Given the description of an element on the screen output the (x, y) to click on. 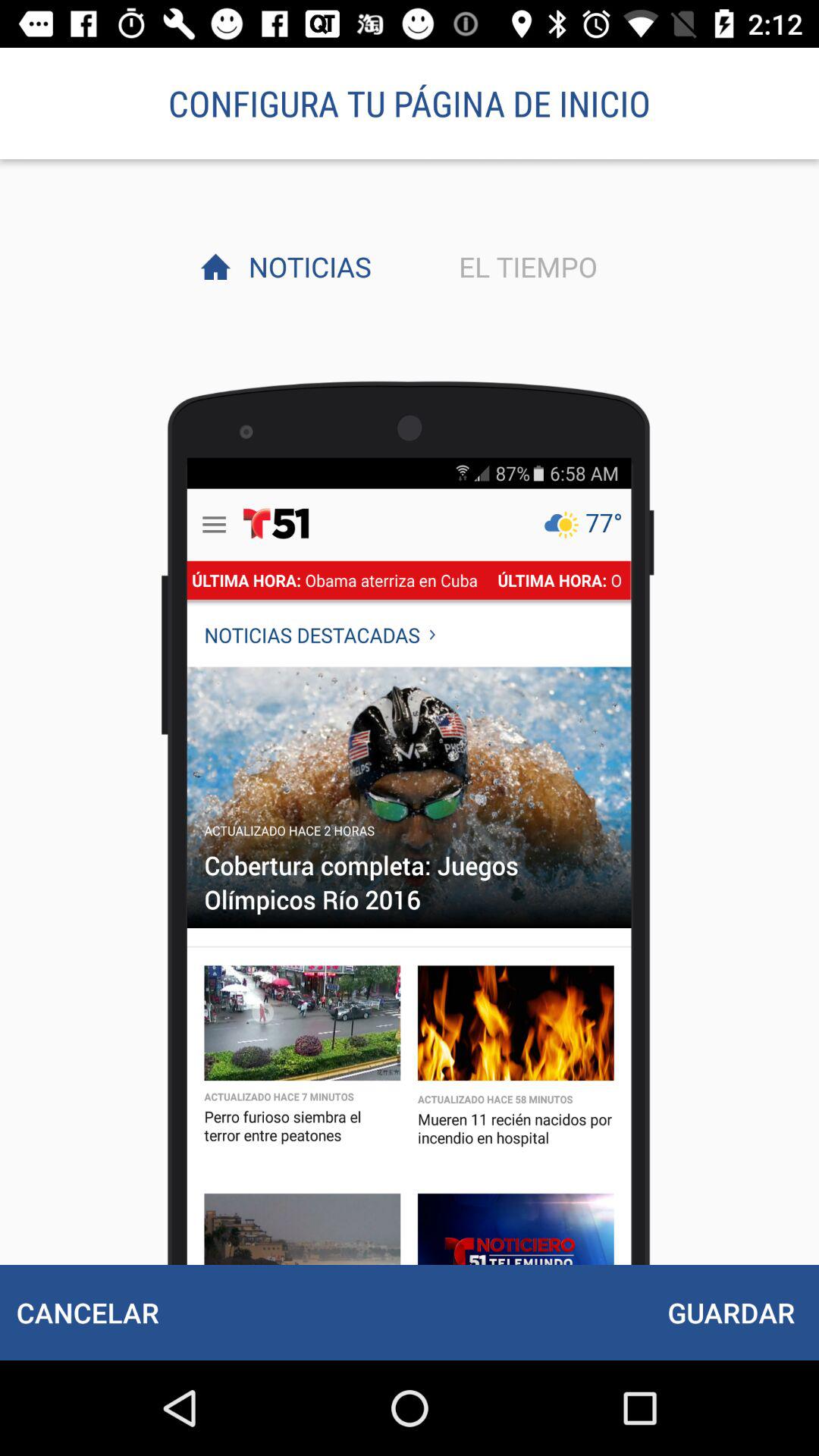
launch the cancelar item (87, 1312)
